Given the description of an element on the screen output the (x, y) to click on. 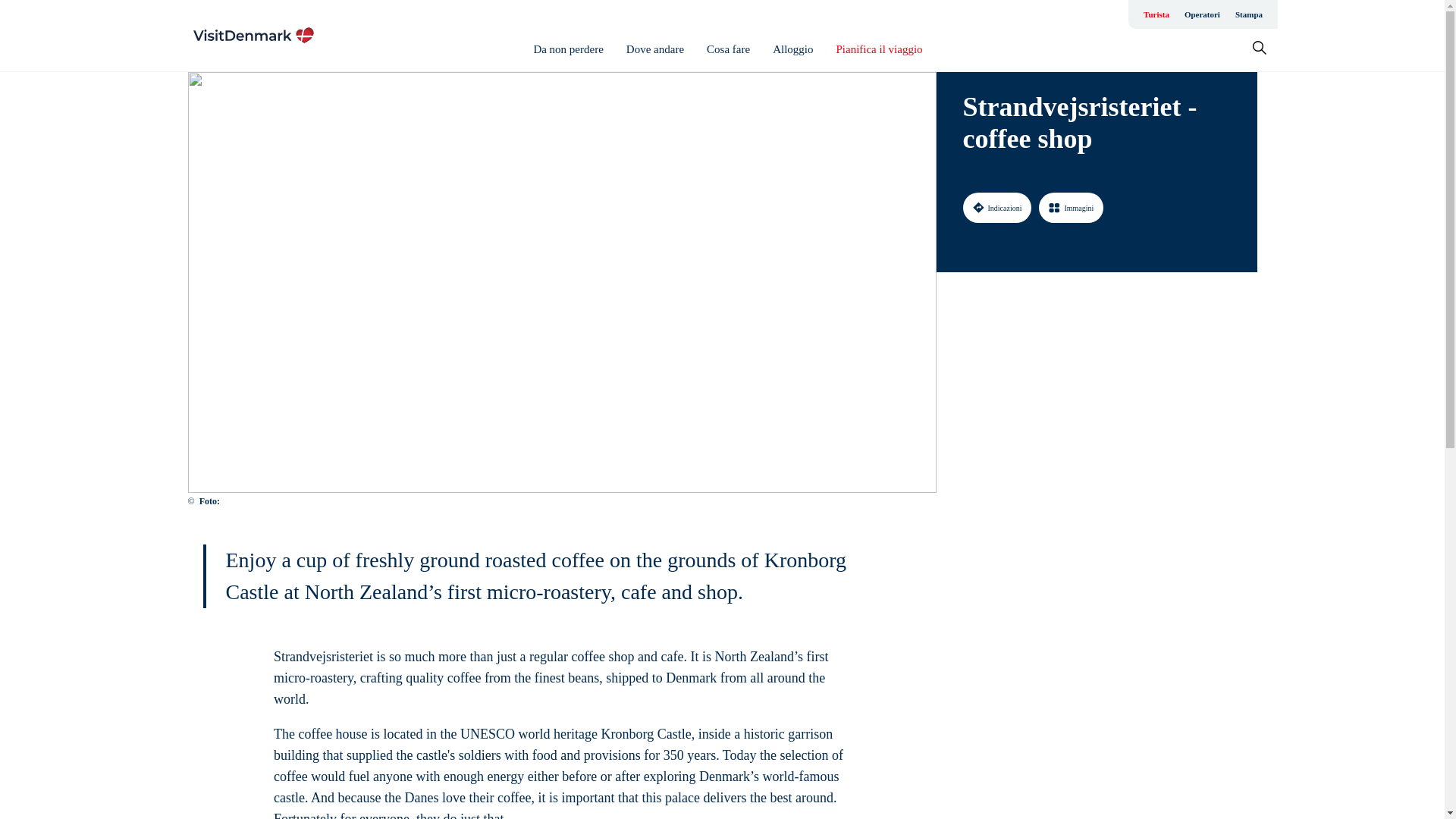
Immagini (1071, 207)
Pianifica il viaggio (878, 49)
Turista (1155, 14)
Da non perdere (567, 49)
Stampa (1248, 14)
Cosa fare (727, 49)
Dove andare (655, 49)
Alloggio (792, 49)
Operatori (1201, 14)
Indicazioni (997, 207)
